Given the description of an element on the screen output the (x, y) to click on. 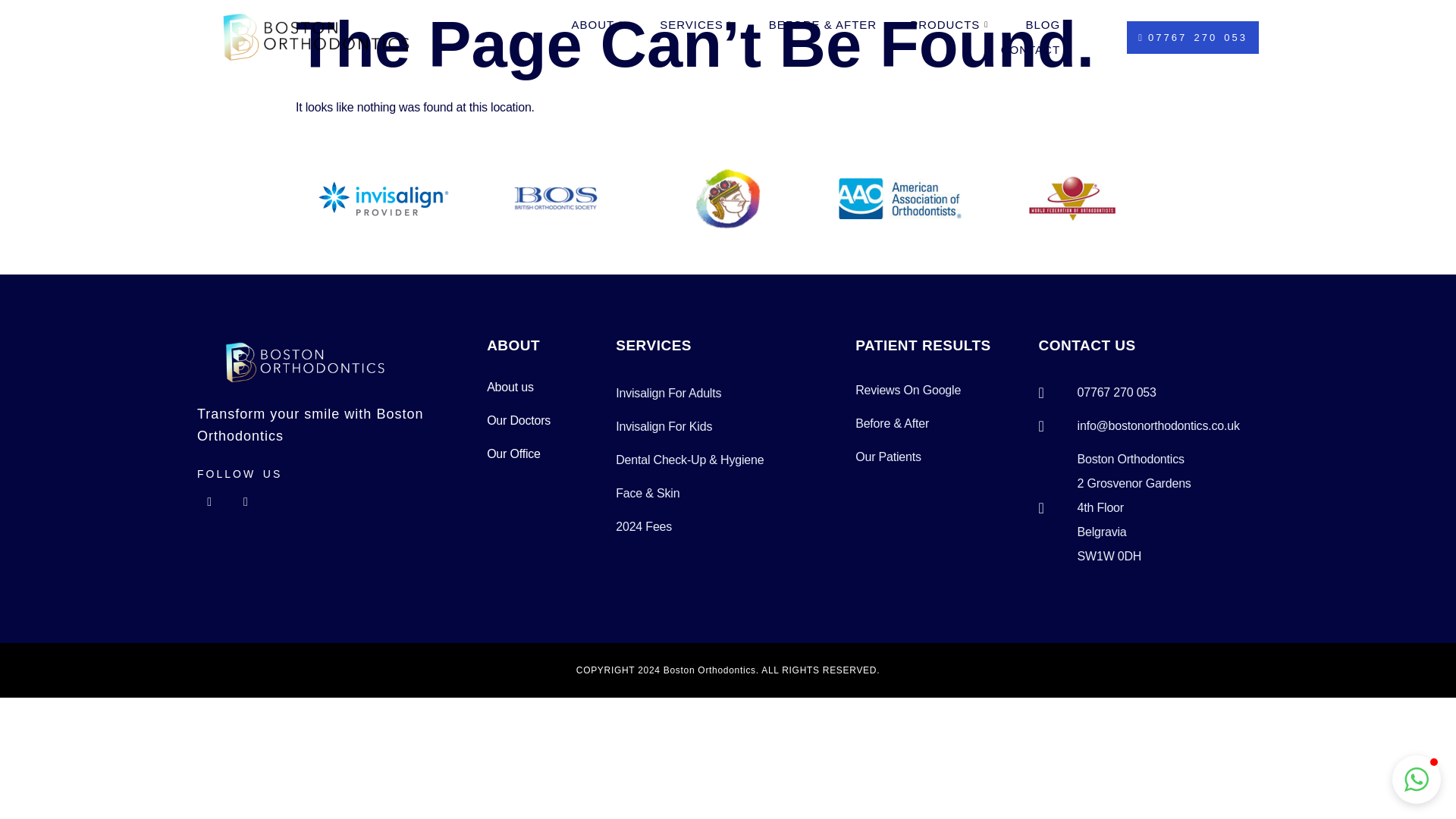
CONTACT (1030, 49)
SERVICES (697, 24)
PRODUCTS (951, 24)
BLOG (1043, 24)
ABOUT (598, 24)
